Given the description of an element on the screen output the (x, y) to click on. 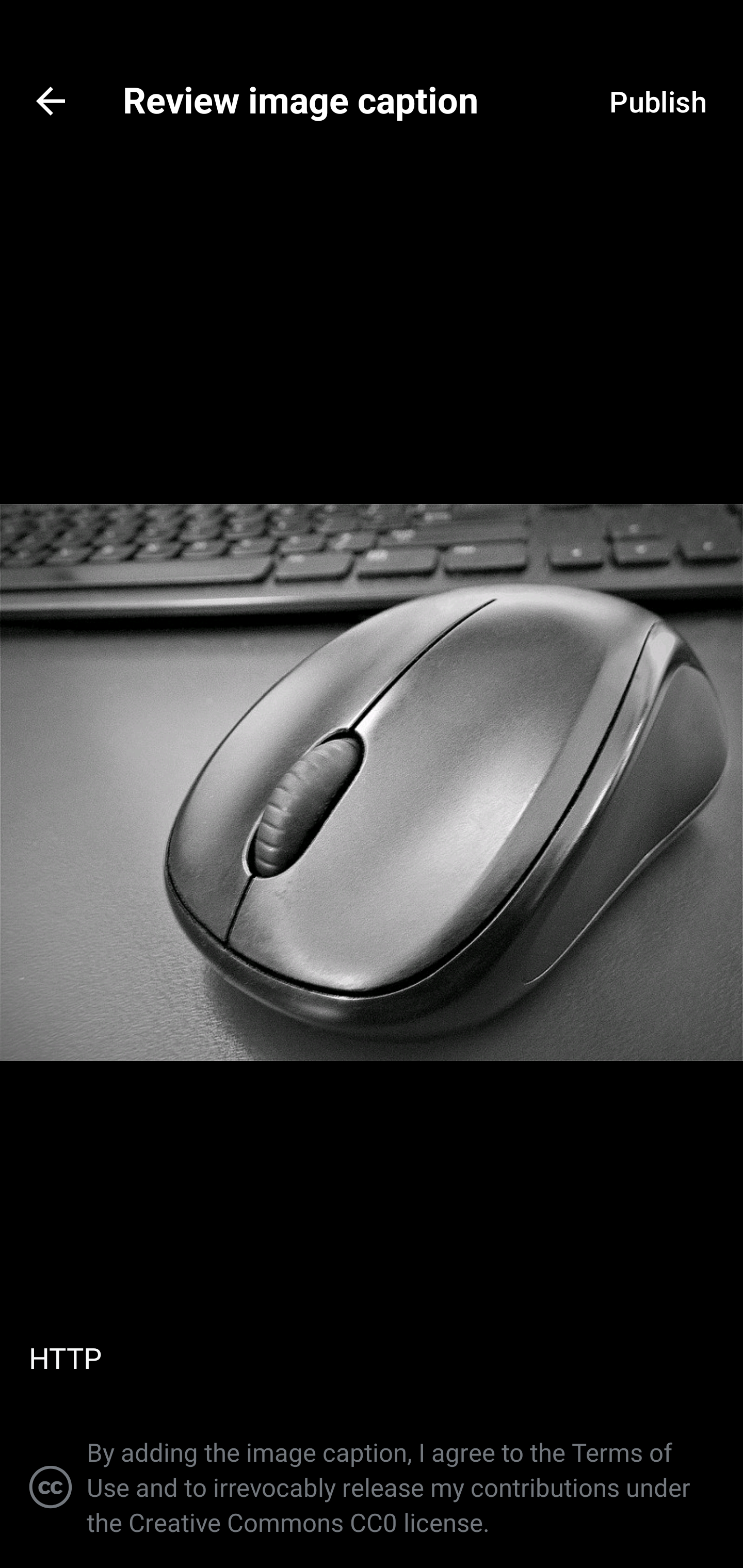
Cancel (50, 101)
Publish (657, 101)
